Given the description of an element on the screen output the (x, y) to click on. 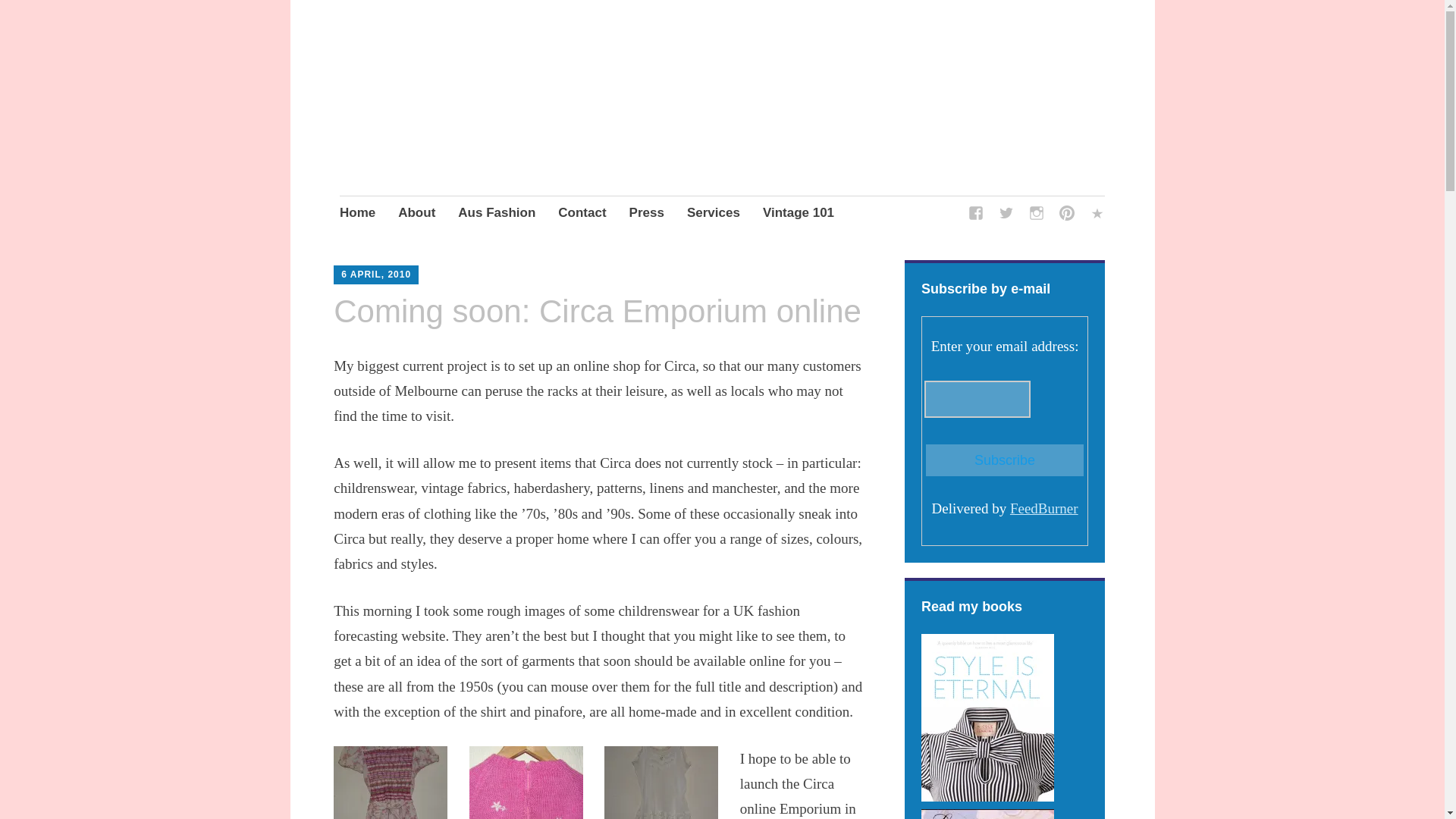
Aus Fashion (496, 214)
1950s hand smocked cotton print dress (389, 782)
1950s nylon lace petticoat (660, 782)
6 APRIL, 2010 (375, 274)
Services (713, 214)
Home (357, 214)
Circa Vintage Clothing (508, 132)
Contact (581, 214)
About (416, 214)
Subscribe (1004, 460)
Vintage 101 (798, 214)
